Given the description of an element on the screen output the (x, y) to click on. 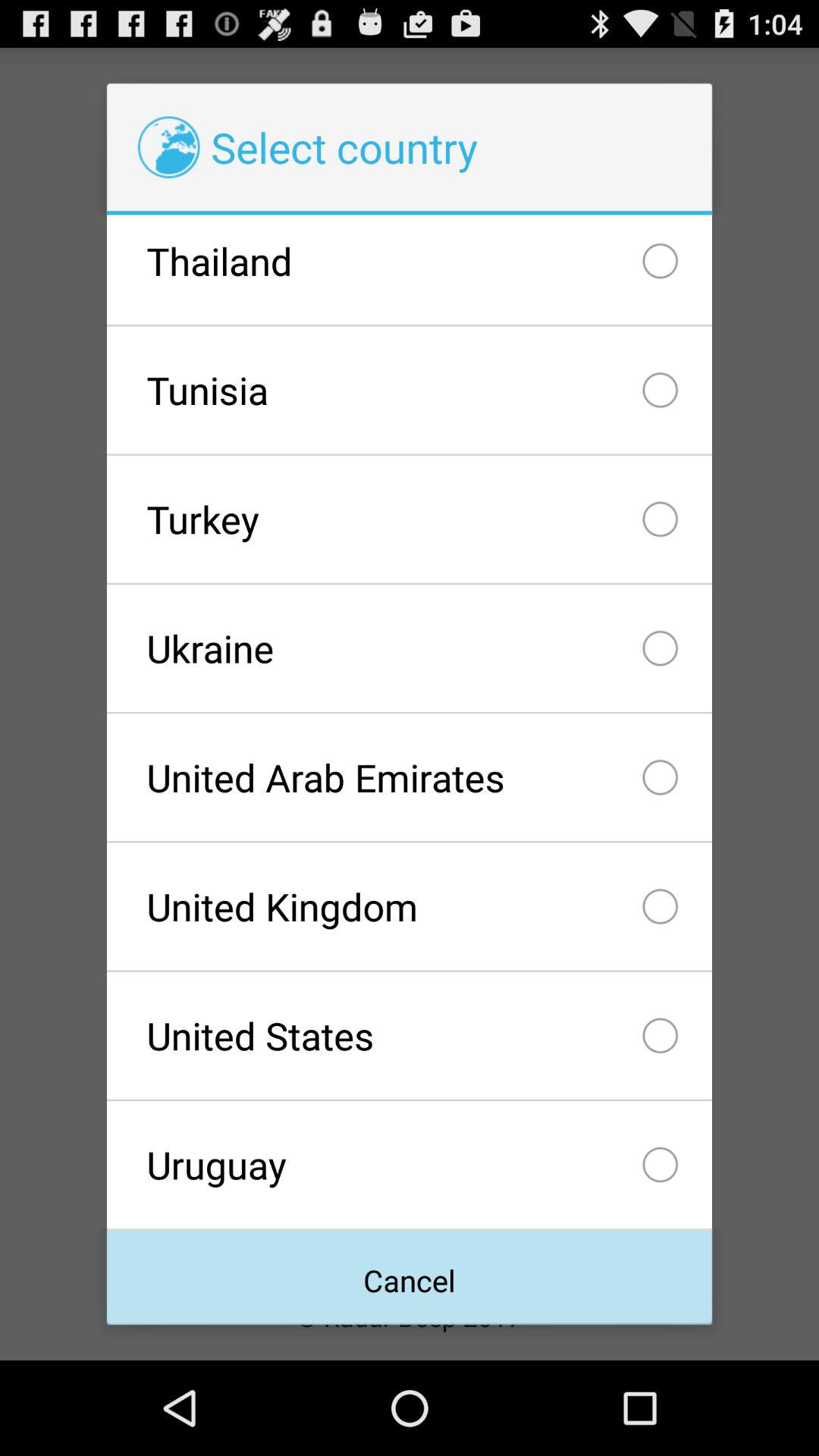
jump until ukraine icon (409, 648)
